Given the description of an element on the screen output the (x, y) to click on. 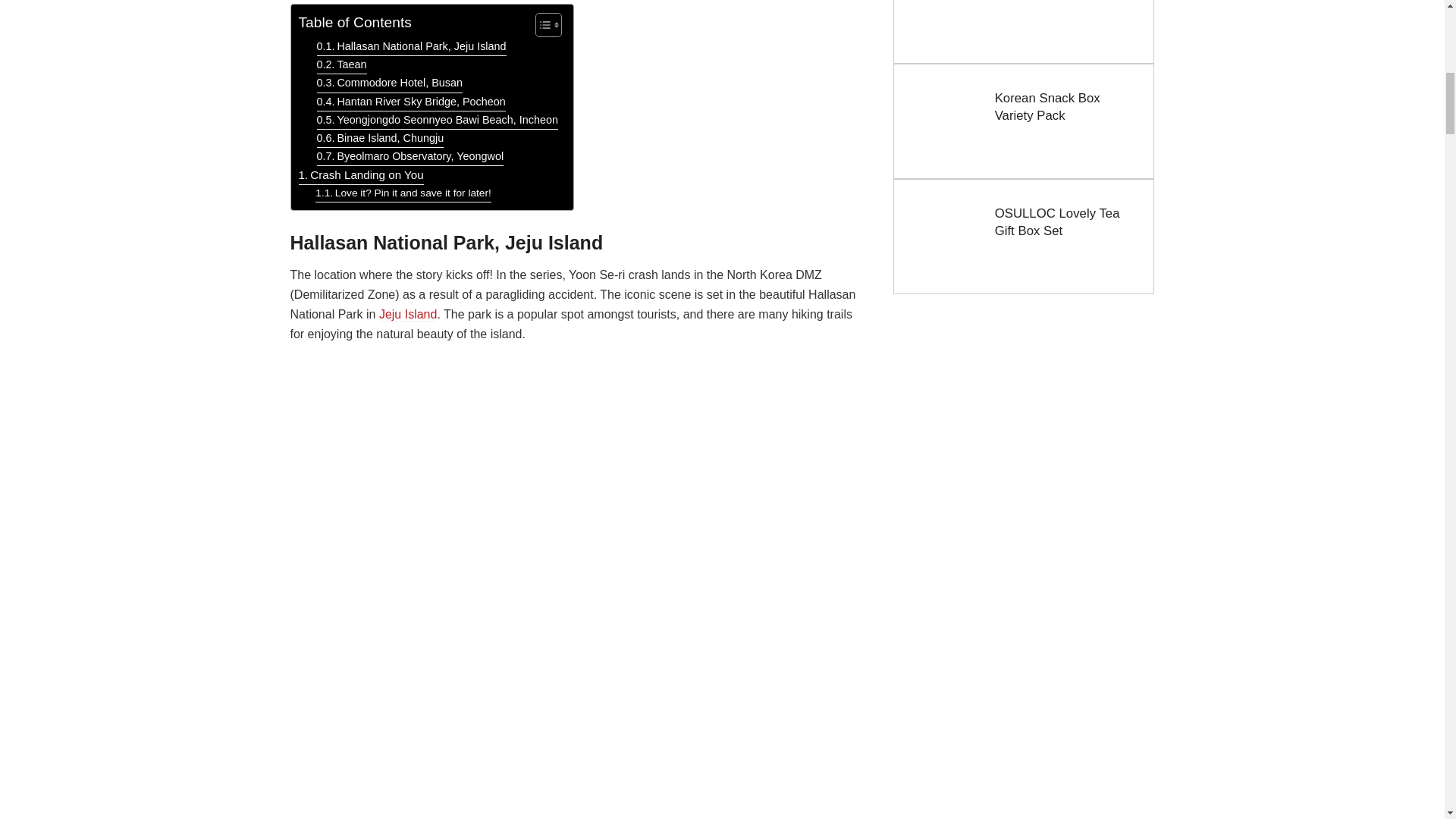
Hantan River Sky Bridge, Pocheon (411, 102)
Byeolmaro Observatory, Yeongwol (410, 157)
Taean (341, 65)
Commodore Hotel, Busan (390, 83)
Binae Island, Chungju (380, 138)
Love it? Pin it and save it for later! (403, 193)
Yeongjongdo Seonnyeo Bawi Beach, Incheon (437, 120)
Hallasan National Park, Jeju Island (411, 46)
Crash Landing on You (360, 175)
